Given the description of an element on the screen output the (x, y) to click on. 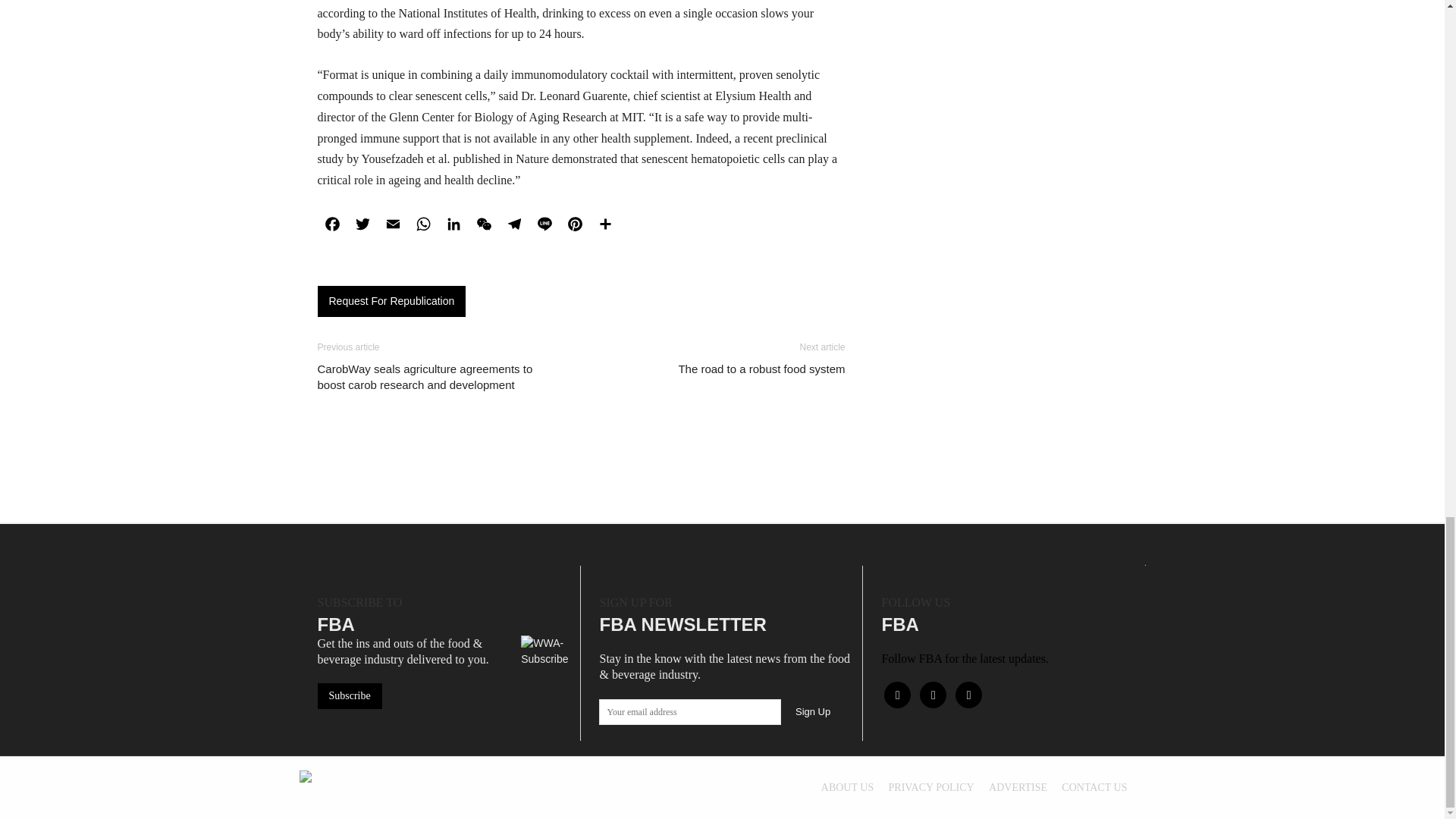
Sign Up (812, 710)
Email (392, 224)
LinkedIn (453, 224)
WhatsApp (422, 224)
Twitter (362, 224)
Subscribe (349, 696)
Facebook (332, 224)
